Given the description of an element on the screen output the (x, y) to click on. 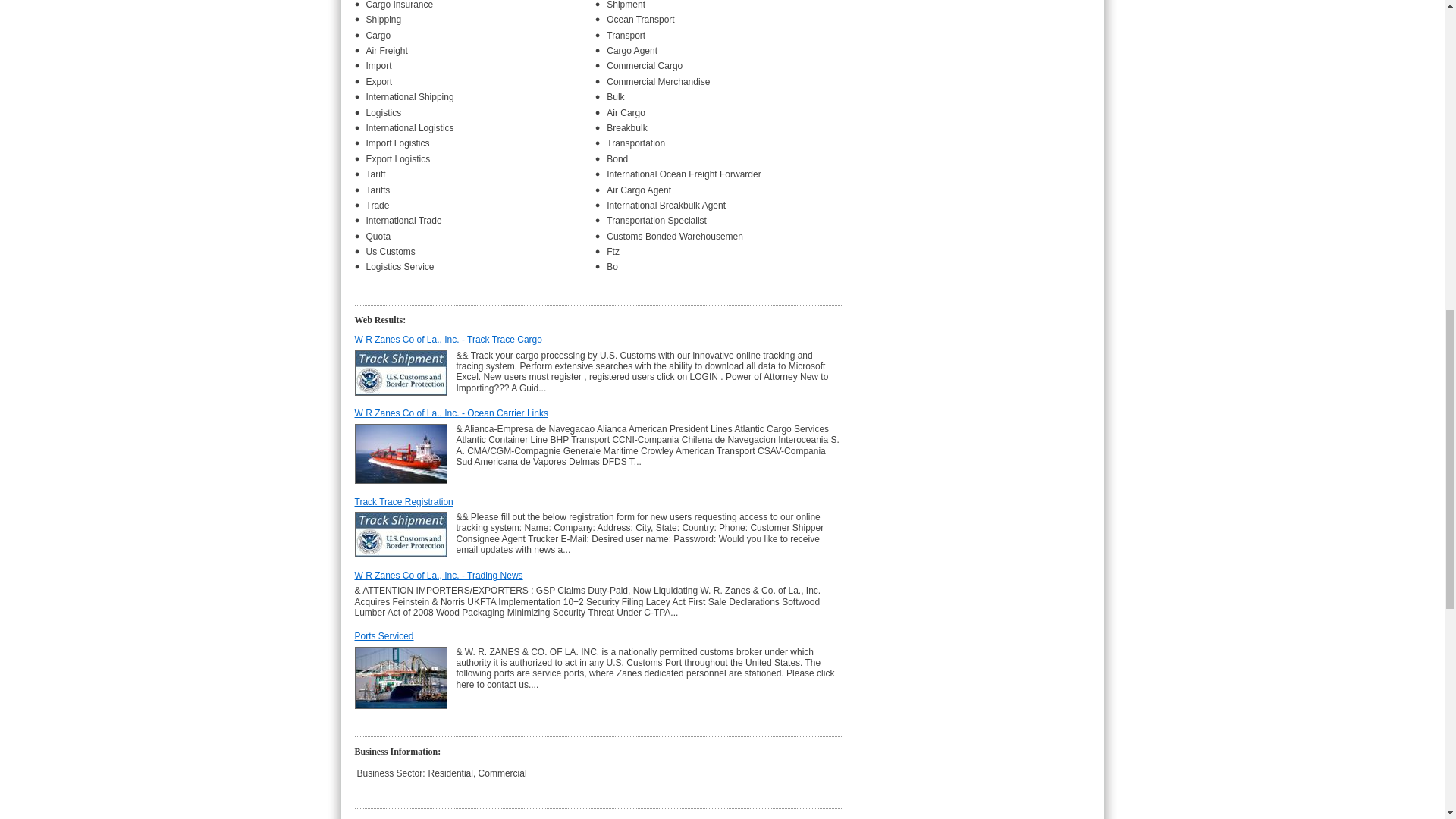
W R Zanes Co of La., Inc. - Ocean Carrier Links (451, 412)
Track Trace Registration (403, 501)
W R Zanes Co of La., Inc. - Track Trace Cargo (448, 339)
Ports Serviced (384, 635)
W R Zanes Co of La., Inc. - Trading News (438, 575)
